Given the description of an element on the screen output the (x, y) to click on. 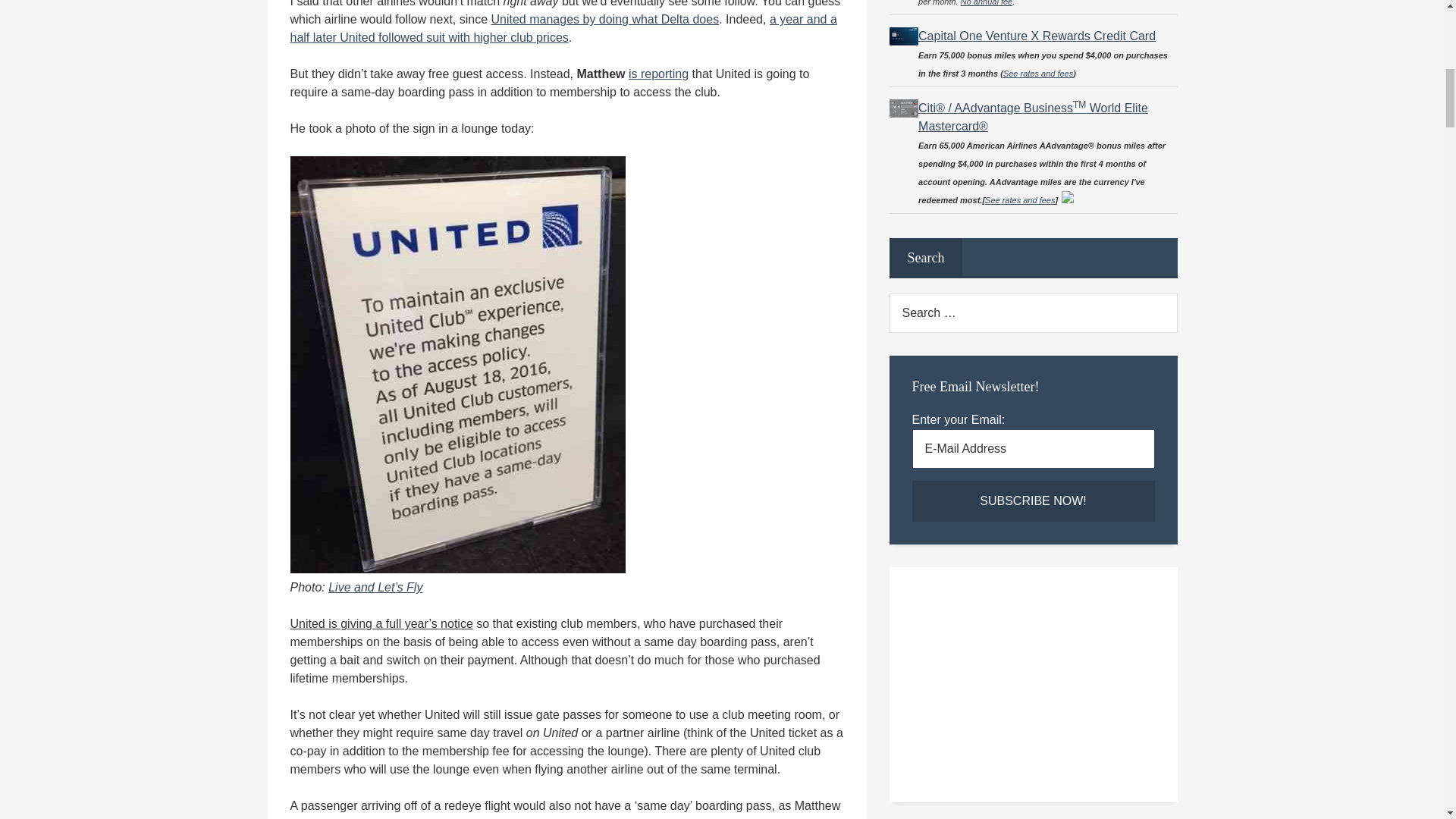
is reporting (658, 73)
United manages by doing what Delta does (605, 19)
Subscribe Now! (1032, 500)
E-Mail Address (1032, 448)
